Given the description of an element on the screen output the (x, y) to click on. 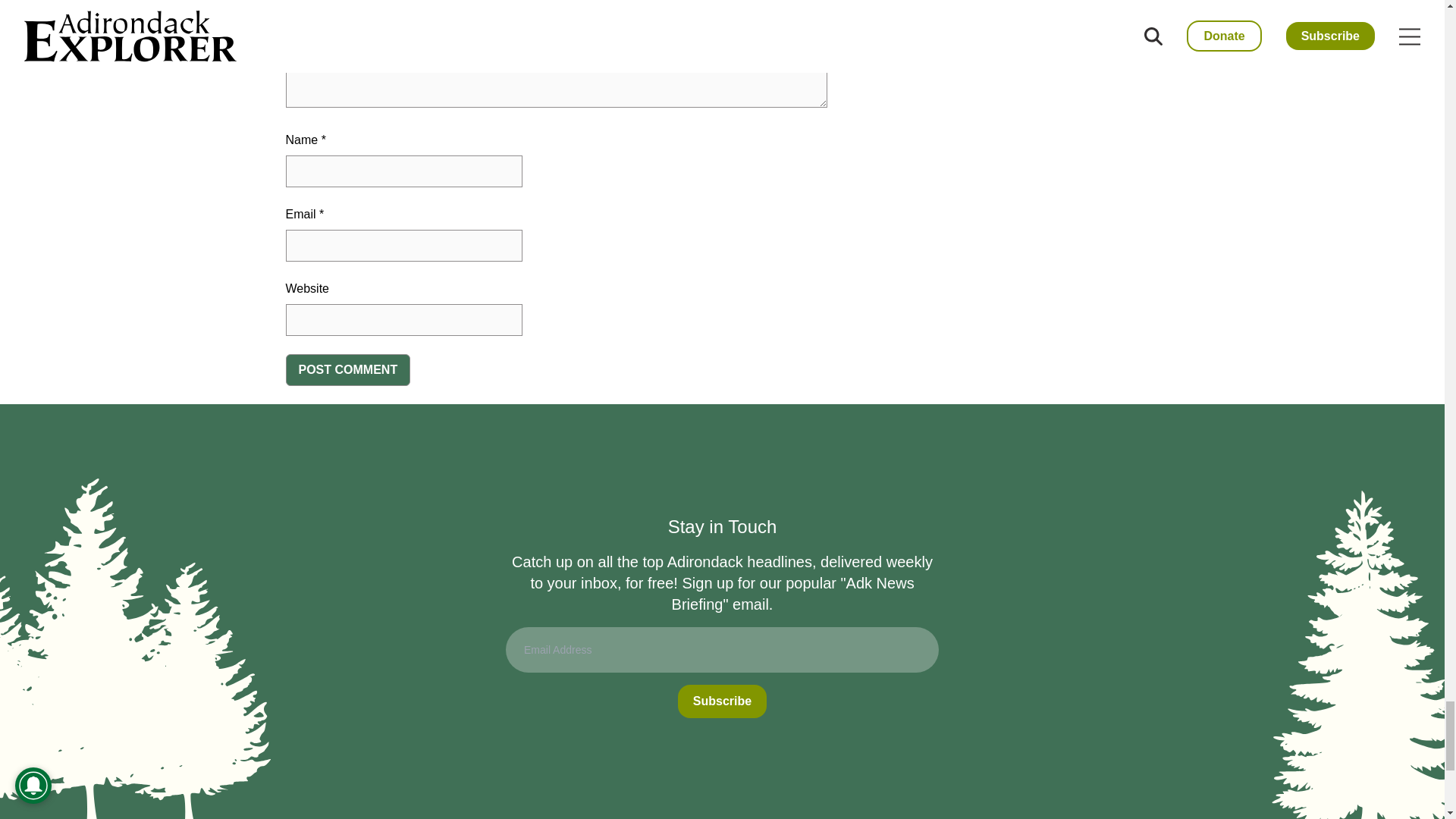
Post Comment (347, 369)
